Given the description of an element on the screen output the (x, y) to click on. 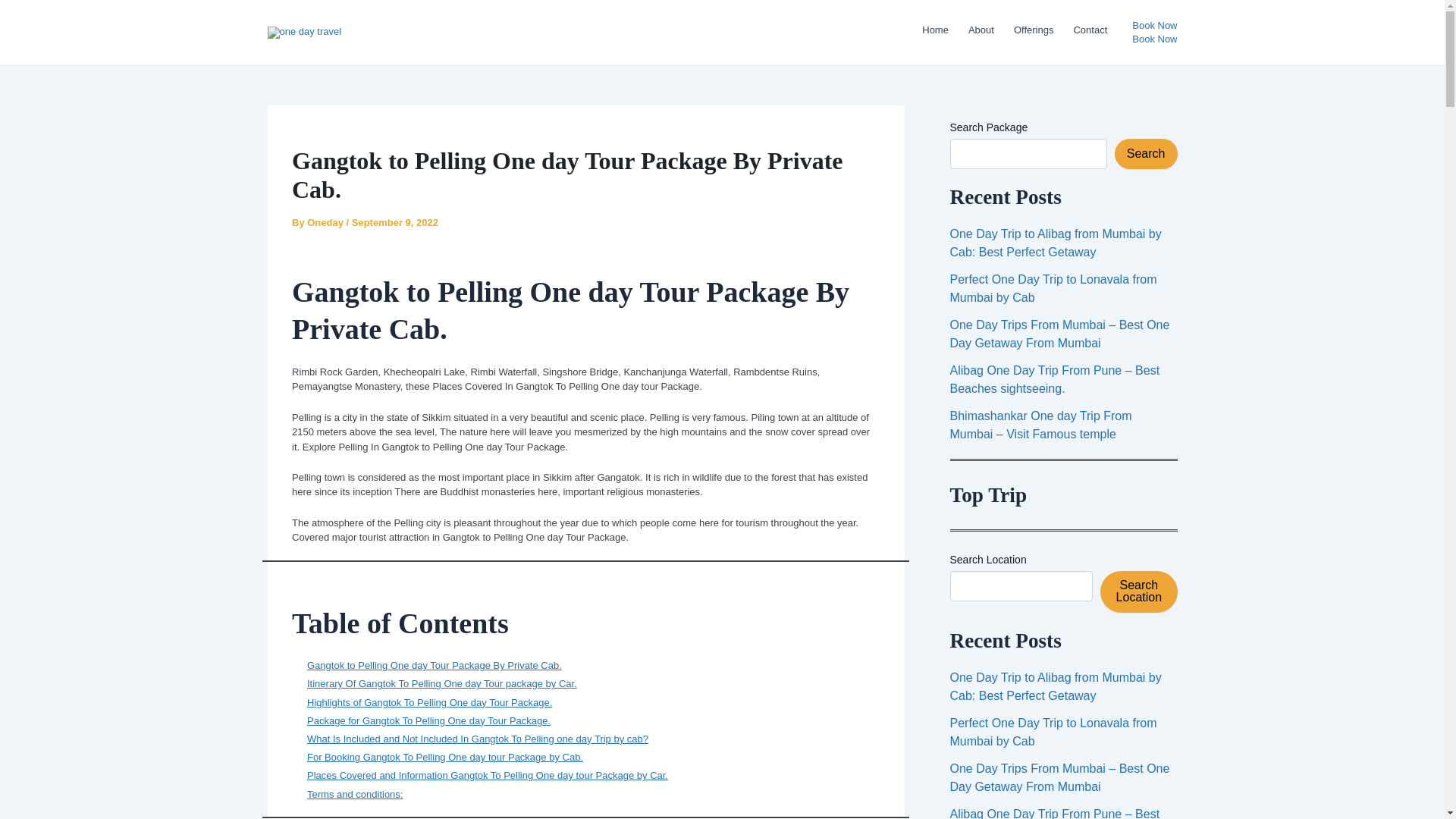
View all posts by Oneday (326, 222)
Terms and conditions: (355, 794)
Search Location (1138, 590)
Package for Gangtok To Pelling One day Tour Package. (428, 720)
Book Now (1154, 39)
Highlights of Gangtok To Pelling One day Tour Package. (429, 702)
Gangtok to Pelling One day Tour Package By Private Cab. (434, 665)
Book Now (1154, 31)
Perfect One Day Trip to Lonavala from Mumbai by Cab (1052, 287)
Oneday (326, 222)
Search (1146, 153)
